Given the description of an element on the screen output the (x, y) to click on. 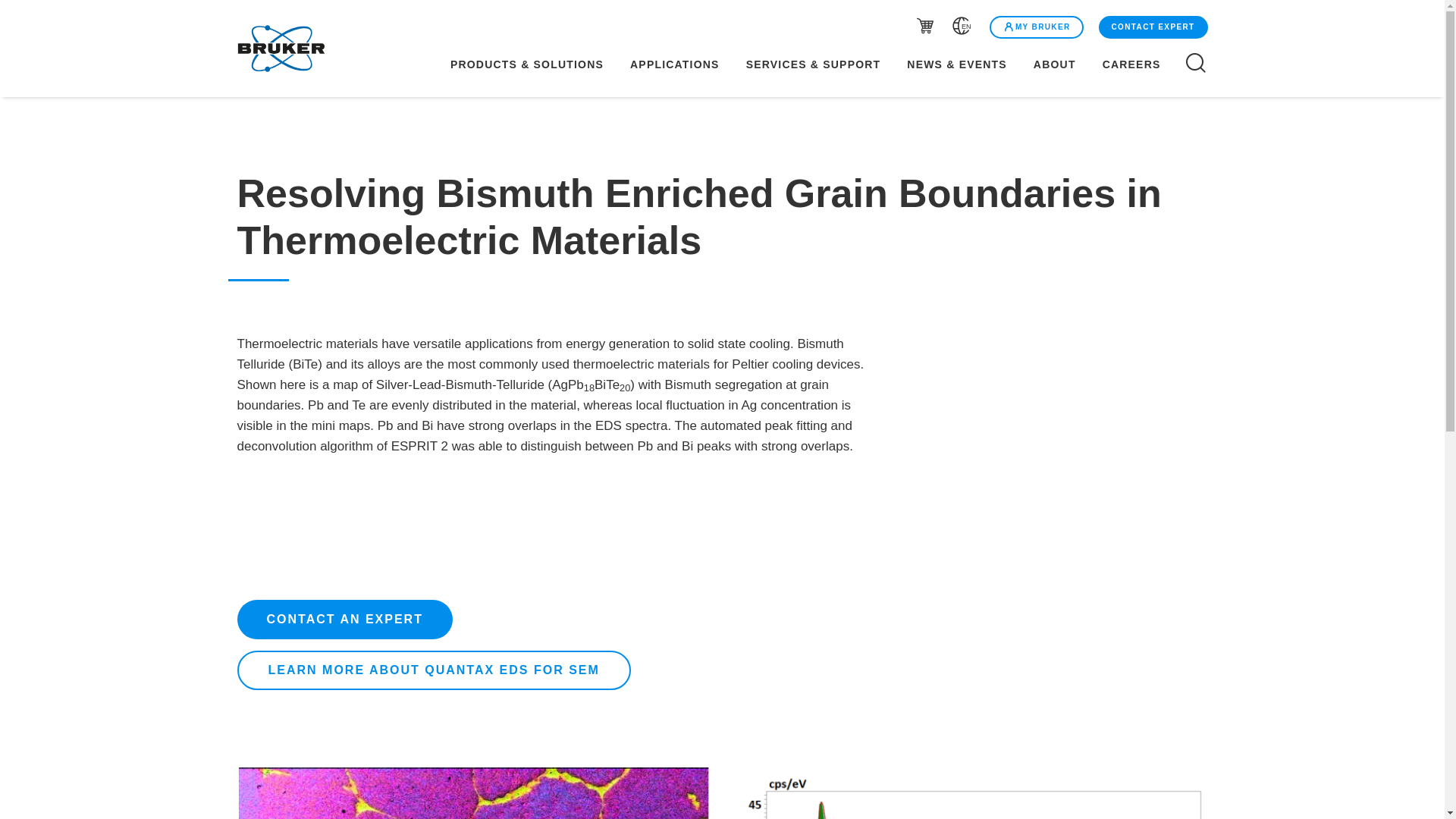
MY BRUKER (1036, 26)
LEARN MORE ABOUT QUANTAX EDS FOR SEM (432, 670)
CAREERS (1141, 64)
CONTACT EXPERT (1153, 26)
CONTACT EXPERT (1151, 27)
CONTACT AN EXPERT (343, 619)
ABOUT (1054, 64)
APPLICATIONS (674, 64)
